Given the description of an element on the screen output the (x, y) to click on. 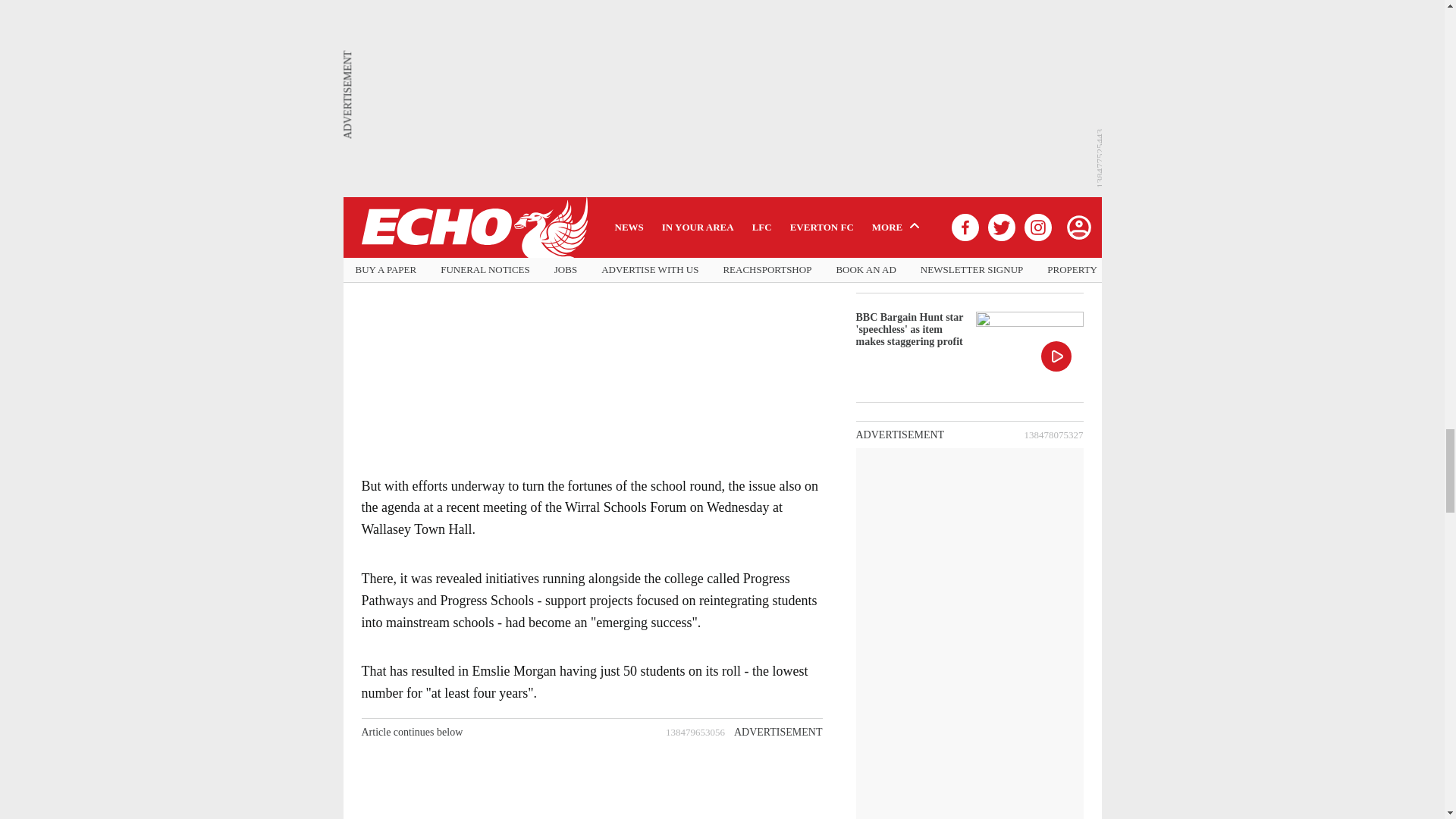
3rd party ad content (590, 357)
3rd party ad content (590, 782)
